Given the description of an element on the screen output the (x, y) to click on. 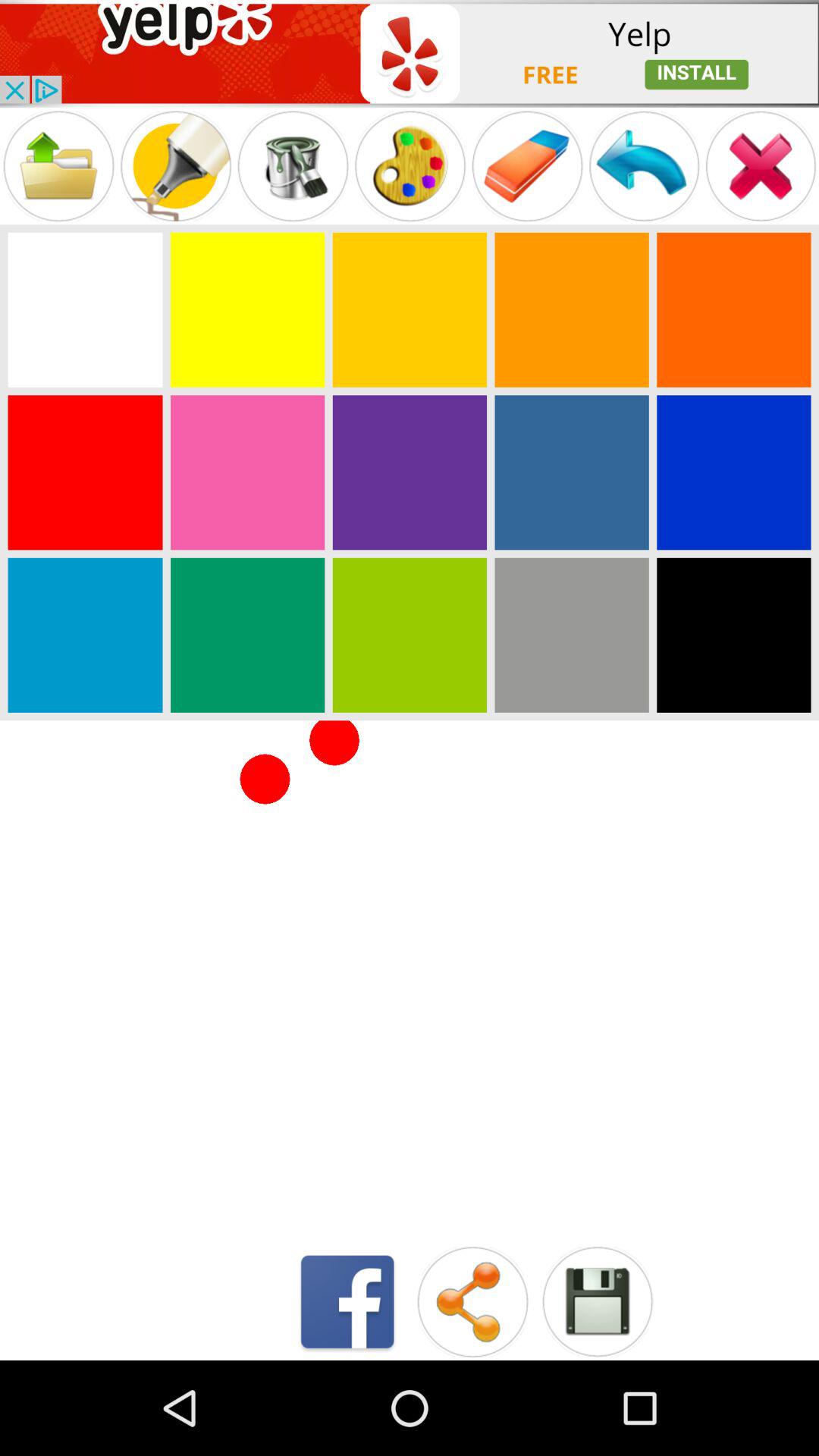
select color (409, 309)
